Given the description of an element on the screen output the (x, y) to click on. 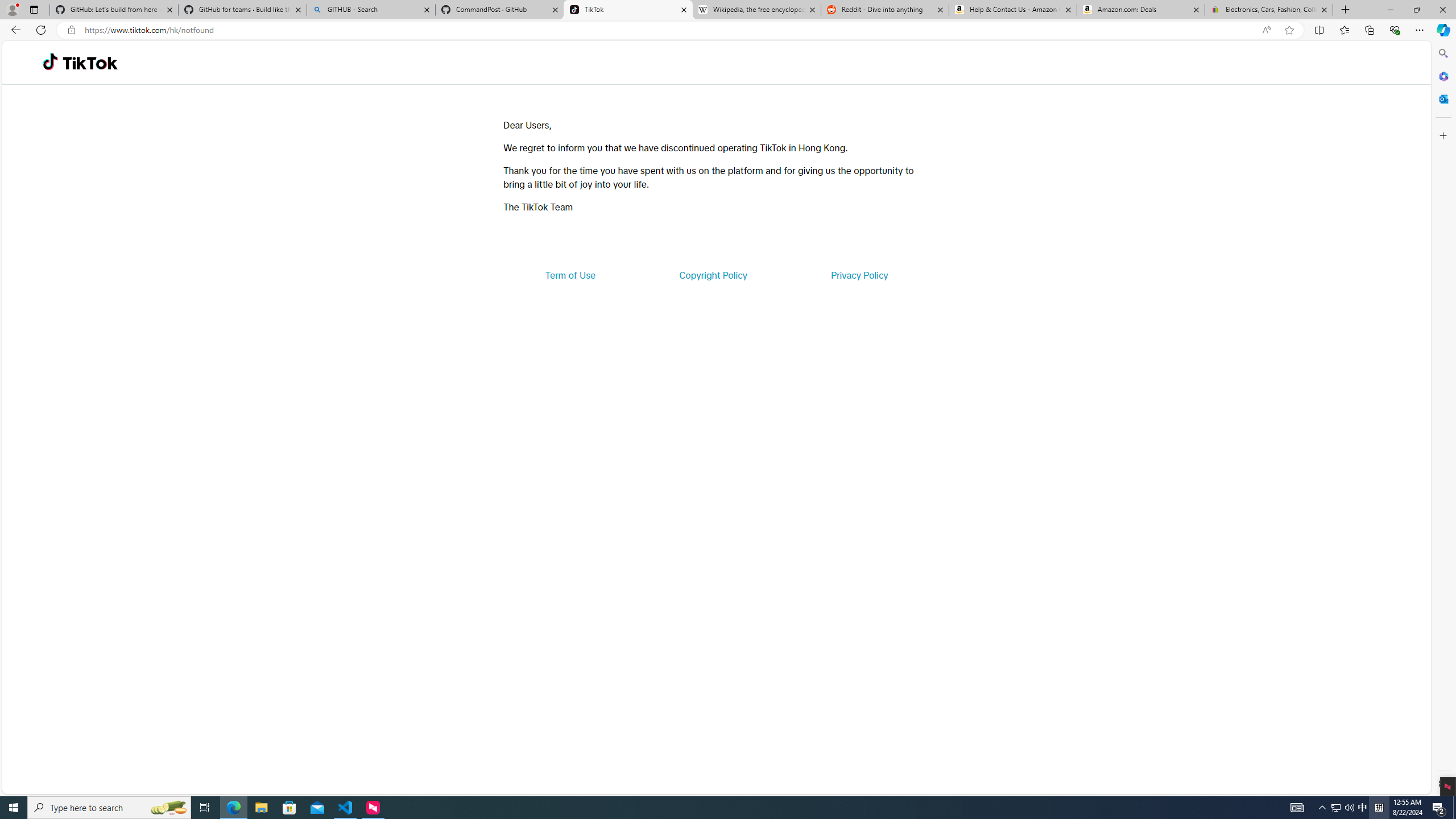
TikTok (628, 9)
